Given the description of an element on the screen output the (x, y) to click on. 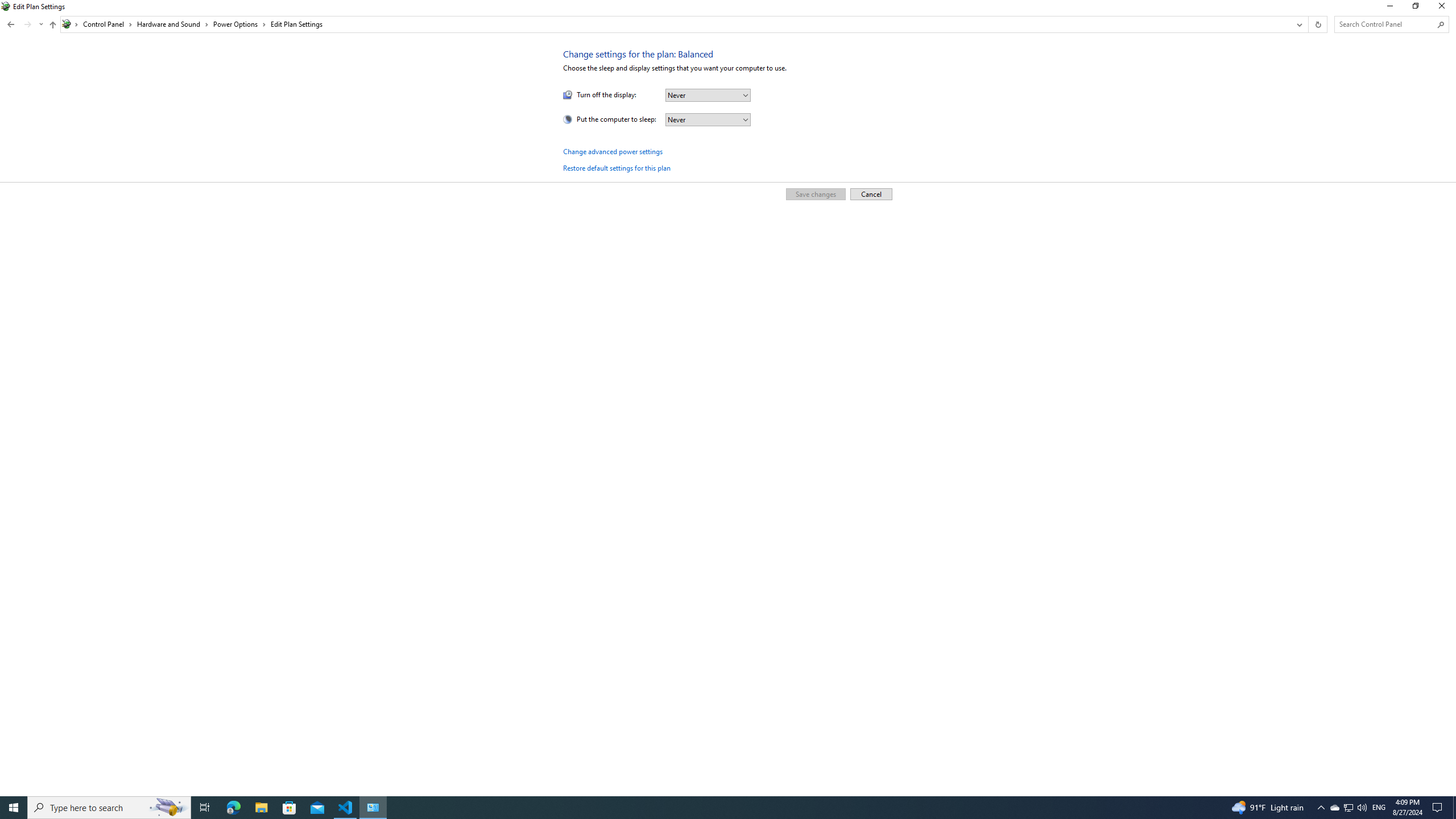
Restore default settings for this plan (617, 167)
Search (1441, 24)
Search highlights icon opens search home window (167, 807)
Tray Input Indicator - English (United States) (1378, 807)
